Given the description of an element on the screen output the (x, y) to click on. 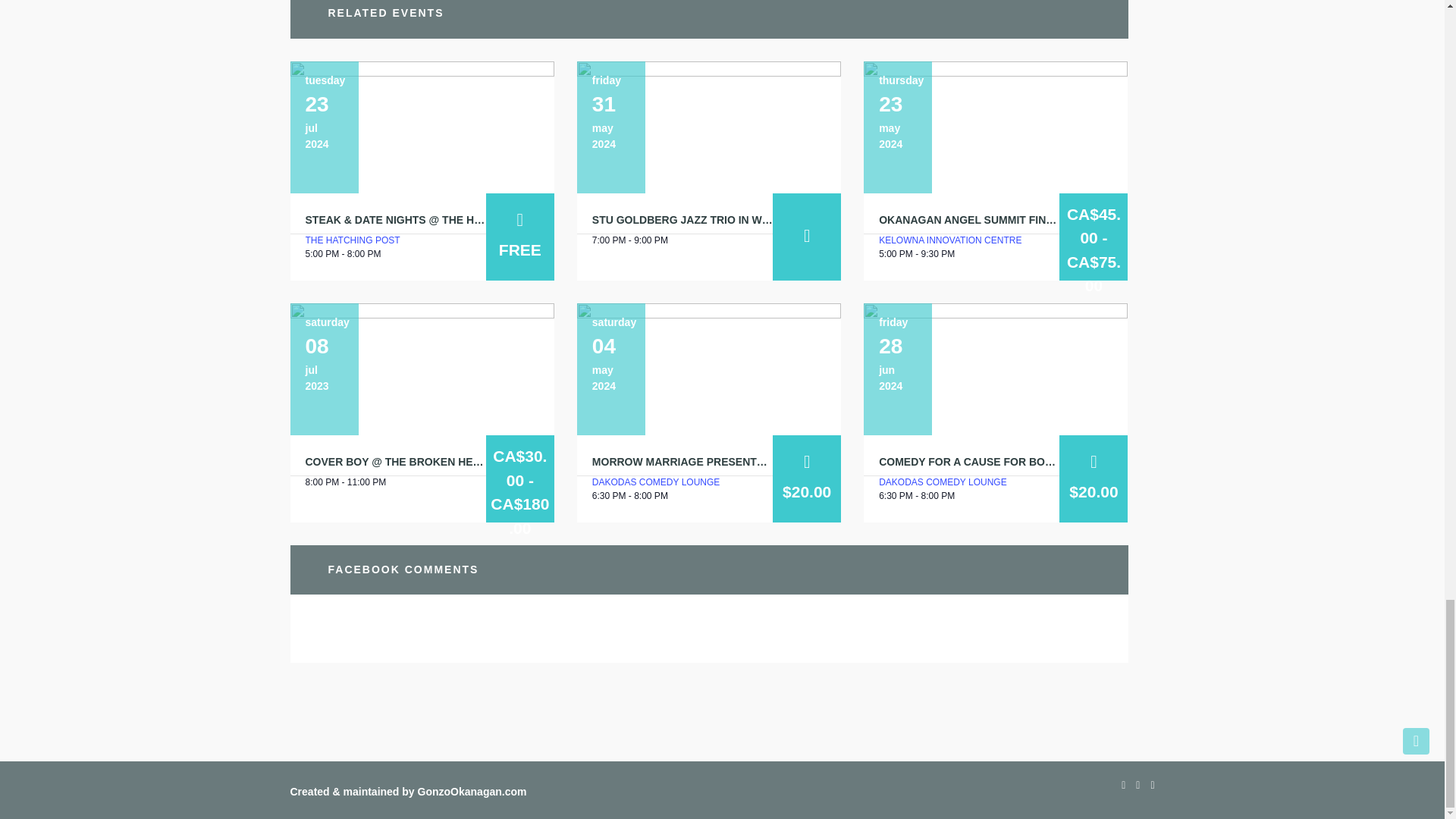
Stu Goldberg Jazz Trio in West Kelowna (716, 219)
The Hatching Post (351, 240)
Stu Goldberg Jazz Trio in West Kelowna (708, 127)
Okanagan Angel Summit Finale 2024 (994, 127)
Okanagan Angel Summit Finale 2024 (986, 219)
